Given the description of an element on the screen output the (x, y) to click on. 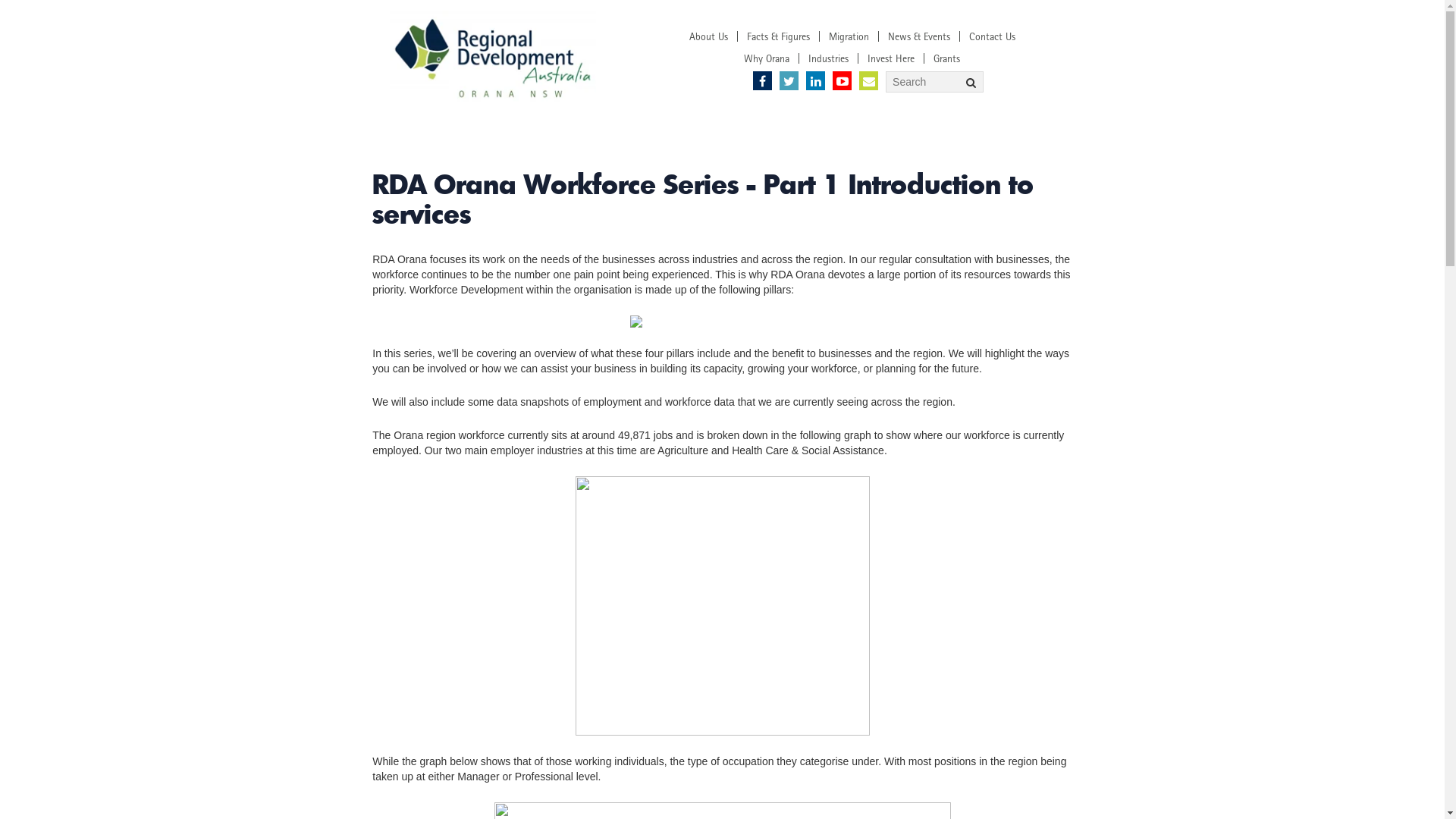
Migration Element type: text (848, 36)
Invest Here Element type: text (890, 58)
Contact Us Element type: text (991, 36)
News & Events Element type: text (918, 36)
Industries Element type: text (828, 58)
vast.png Element type: hover (492, 59)
Facts & Figures Element type: text (778, 36)
Why Orana Element type: text (766, 58)
Grants Element type: text (946, 58)
About Us Element type: text (708, 36)
